Given the description of an element on the screen output the (x, y) to click on. 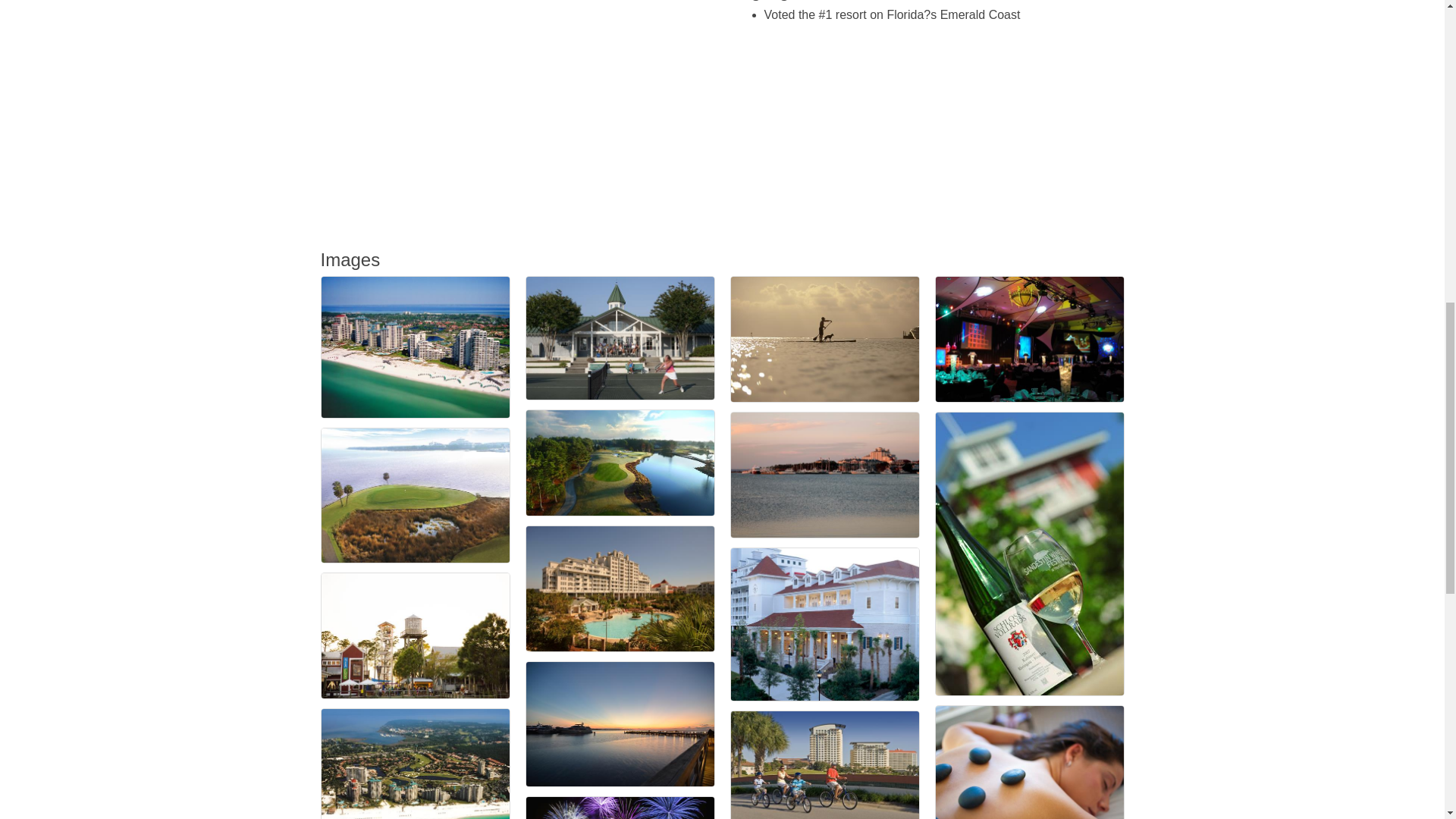
Sandestin Golf and Beach Resort (415, 764)
Sandestin Golf and Beach Resort Aerial (415, 346)
Sandestin Links Golf Club (415, 495)
The Village of Baytowne Wharf (415, 635)
